Given the description of an element on the screen output the (x, y) to click on. 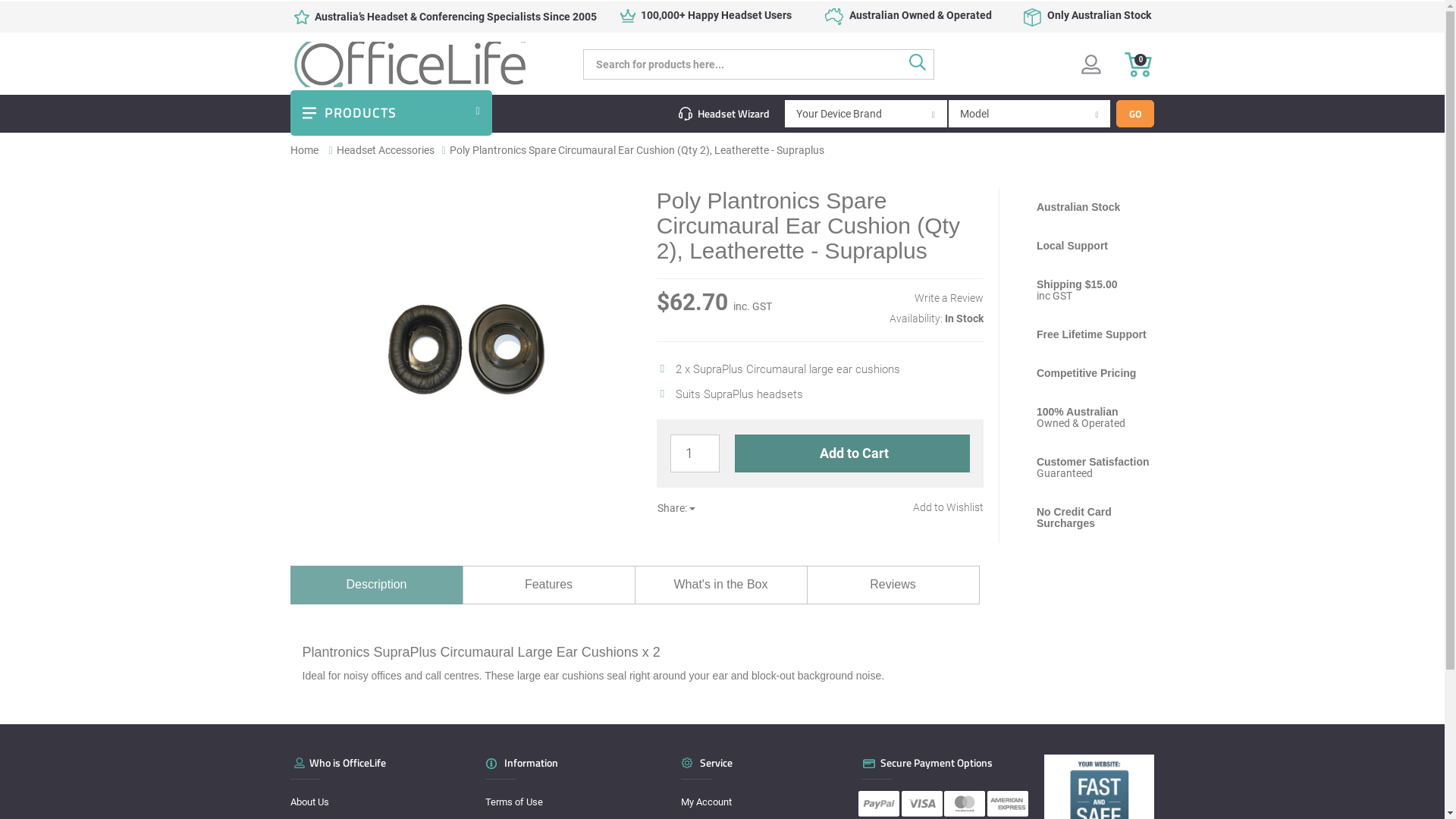
Share: Element type: text (676, 507)
PRODUCTS Element type: text (390, 112)
Description Element type: text (375, 584)
Terms of Use Element type: text (569, 801)
My Account Element type: text (765, 801)
Reviews Element type: text (892, 584)
Add to Cart Element type: text (851, 453)
Search Element type: text (921, 64)
Features Element type: text (548, 584)
GO Element type: text (1135, 113)
What's in the Box Element type: text (719, 584)
Home Element type: text (303, 150)
About Us Element type: text (374, 801)
Headset Accessories Element type: text (385, 150)
Add to Wishlist Element type: text (948, 507)
0 Element type: text (1137, 64)
